Given the description of an element on the screen output the (x, y) to click on. 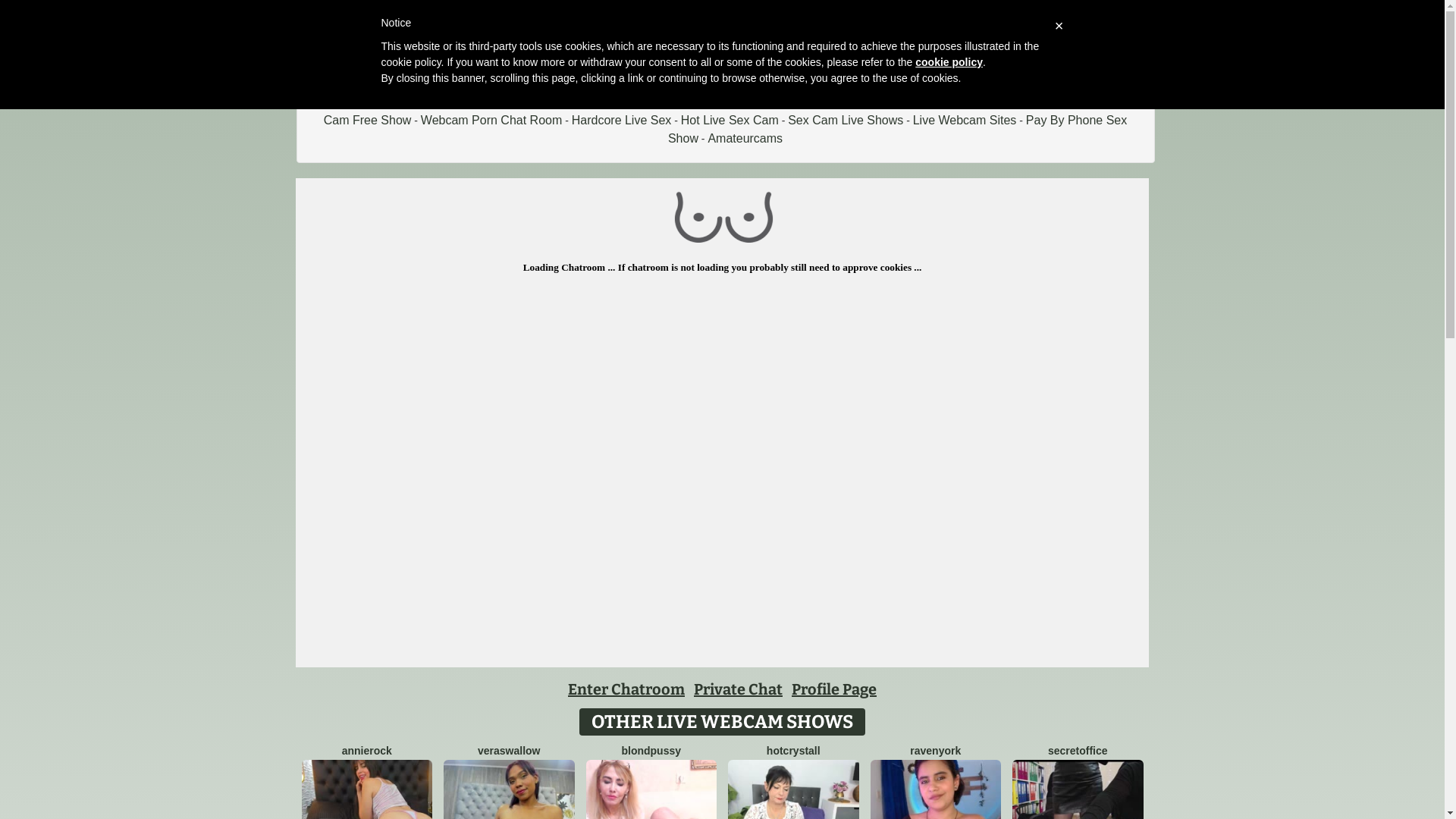
Sexshow Live Element type: text (891, 101)
Profile Page Element type: text (833, 689)
Sex Cam Free Show Element type: text (731, 110)
annierock Element type: text (367, 750)
Private Chat Element type: text (737, 689)
blondpussy Element type: text (650, 750)
Amazing Amateur Live Cams Element type: text (668, 101)
ravenyork Element type: text (935, 750)
Cam Porn Online Element type: text (534, 101)
Hot Live Sex Cam Element type: text (729, 119)
Live Webcam Sites Element type: text (964, 119)
Hardcore Live Sex Element type: text (621, 119)
veraswallow Element type: text (508, 750)
Webcam Porn Chat Room Element type: text (490, 119)
Enter Chatroom Element type: text (625, 689)
Videochat Nude Element type: text (435, 101)
cookie policy Element type: text (948, 62)
Wicked Livecam Element type: text (800, 101)
secretoffice Element type: text (1077, 750)
Kinky Live Chat Element type: text (1066, 101)
Amateurcams Element type: text (744, 137)
Pay By Phone Sex Show Element type: text (897, 128)
hotcrystall Element type: text (793, 750)
Sex Cam Live Shows Element type: text (845, 119)
2 Sexy 4 Sex Element type: text (346, 101)
Hot Girl Cams Element type: text (976, 101)
